Given the description of an element on the screen output the (x, y) to click on. 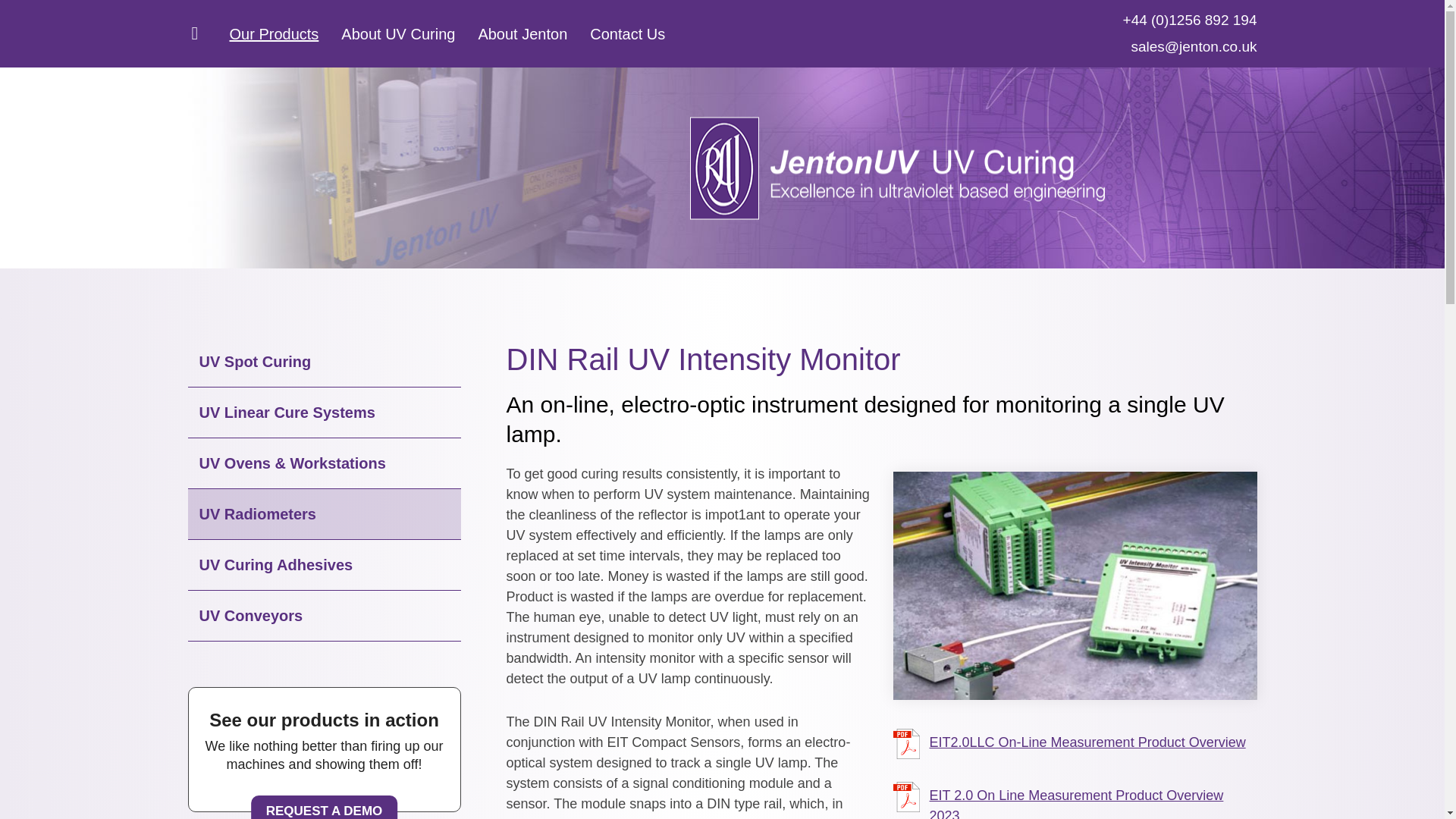
EIT 2.0 On Line Measurement Product Overview 2023 (1075, 800)
UV Conveyors (324, 615)
EIT2.0LLC On-Line Measurement Product Overview (1069, 743)
UV Spot Curing (324, 361)
Contact Us (627, 33)
About Jenton (521, 33)
Our Products (274, 33)
About UV Curing (397, 33)
UV Curing Adhesives (324, 564)
UV Radiometers (324, 513)
